Given the description of an element on the screen output the (x, y) to click on. 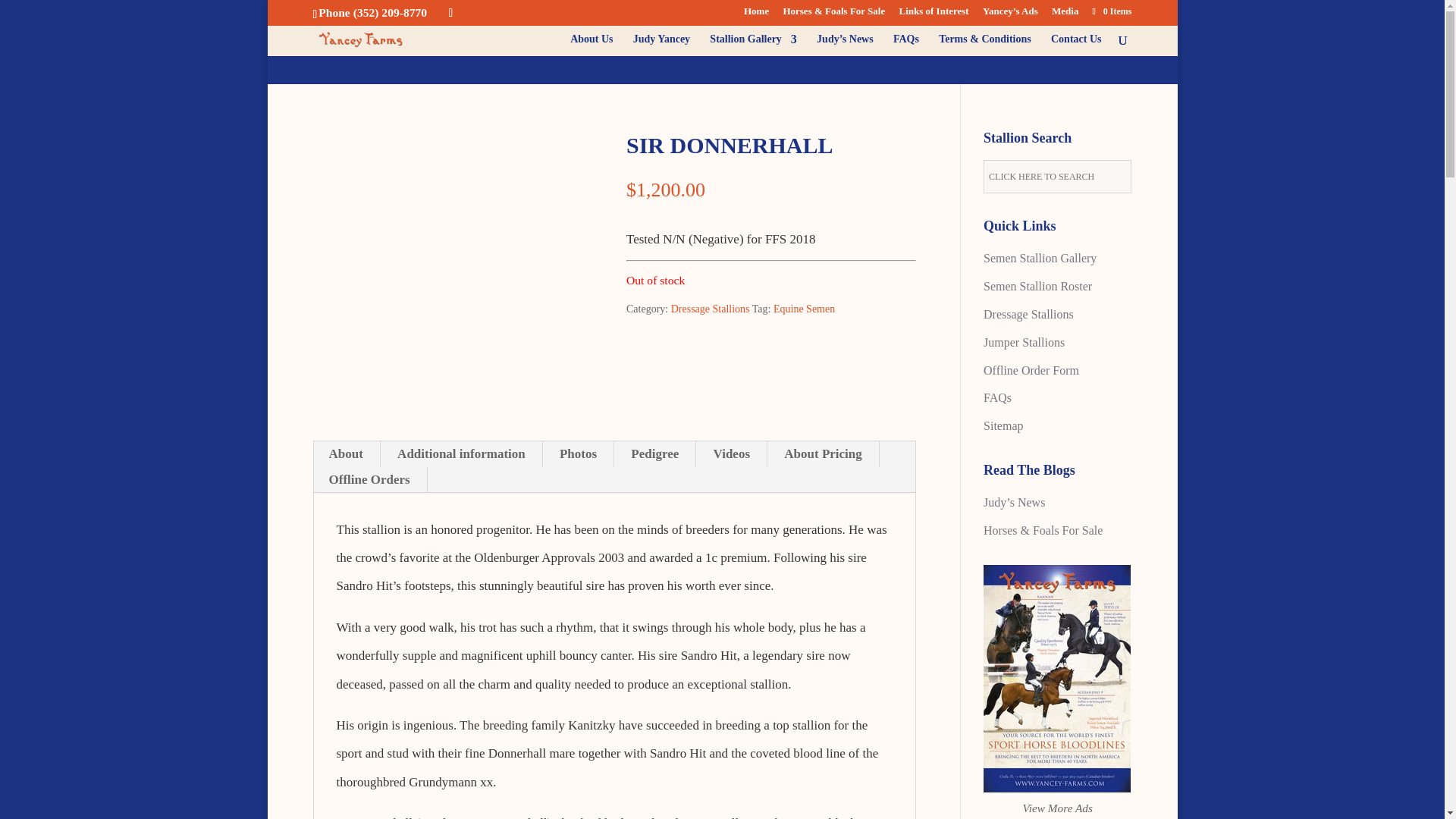
Contact Us (1076, 45)
Jumper Stallions (1024, 341)
Semen Stallion Roster (1038, 286)
Stallion Gallery (753, 45)
About Us (591, 45)
Links of Interest (933, 14)
Home (756, 14)
Media (1064, 14)
FAQs (905, 45)
Dressage Stallions (710, 308)
Offline Order Form (1031, 369)
About (346, 453)
Additional information (460, 453)
FAQs (997, 397)
Offline Orders (369, 479)
